Given the description of an element on the screen output the (x, y) to click on. 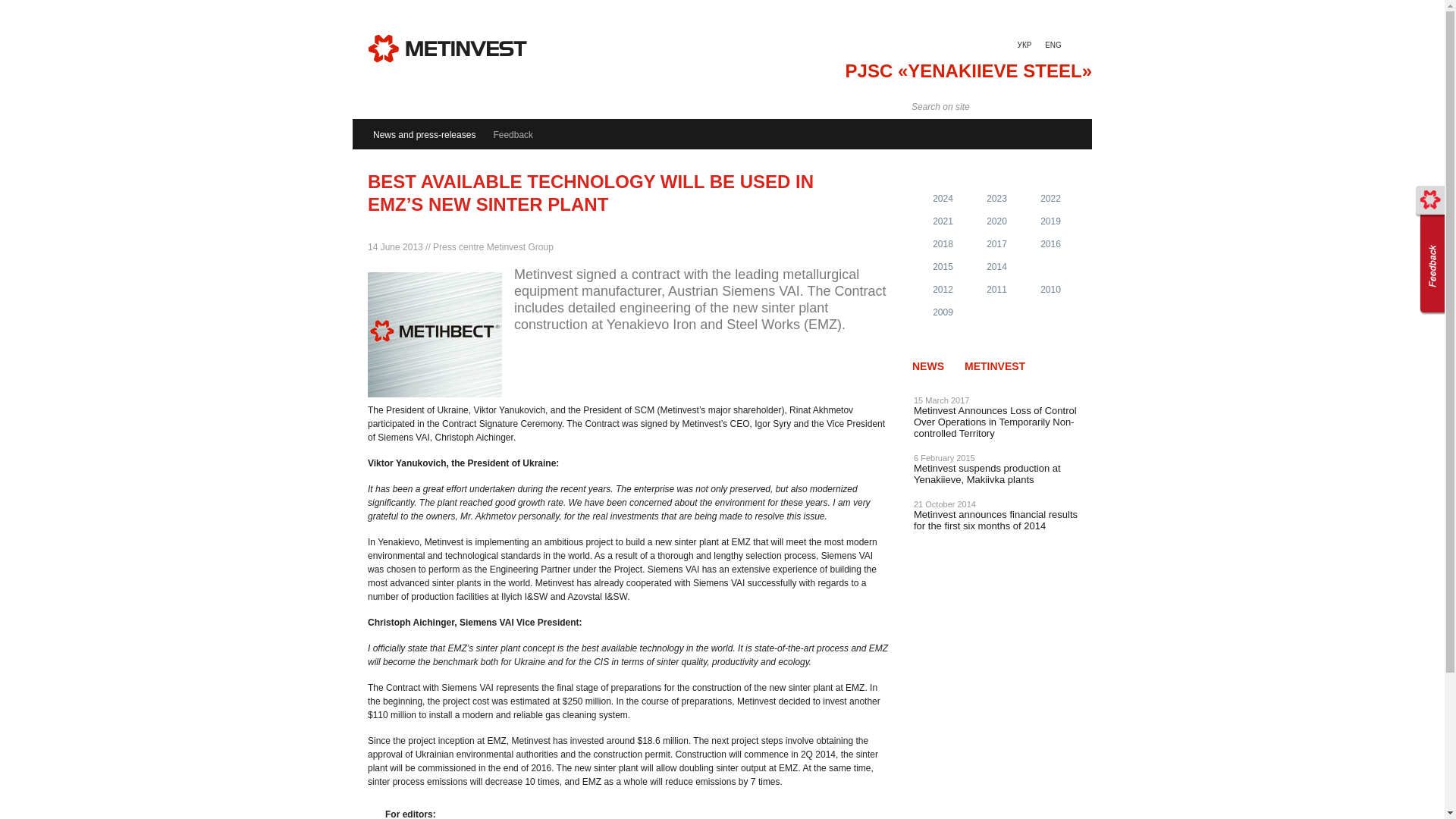
PRODUCTS AND QUALITY (502, 110)
DEVELOPMENT (622, 110)
Search on site (975, 107)
ABOUT US (395, 110)
